Given the description of an element on the screen output the (x, y) to click on. 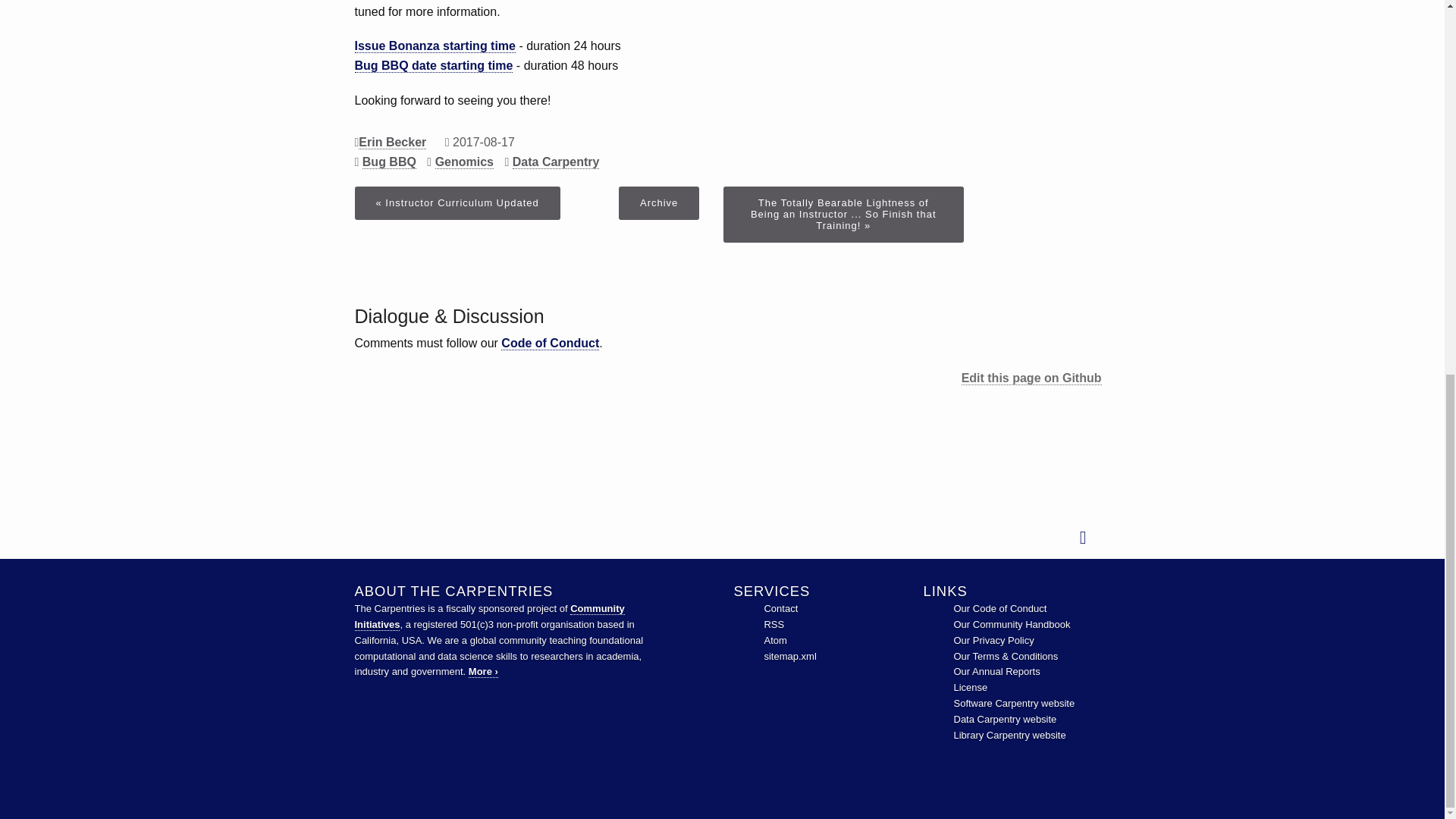
Privacy Policy (993, 640)
Subscribe to Atom Feed (774, 640)
Data Carpentry (1005, 718)
Software Carpentry (1014, 703)
Terms and Conditions (1005, 655)
Our Reports (997, 671)
Blog Archive (658, 203)
Subscribe to RSS Feed (773, 624)
Sitemap for Google Webmaster Tools (788, 655)
Library Carpentry (1009, 735)
